Given the description of an element on the screen output the (x, y) to click on. 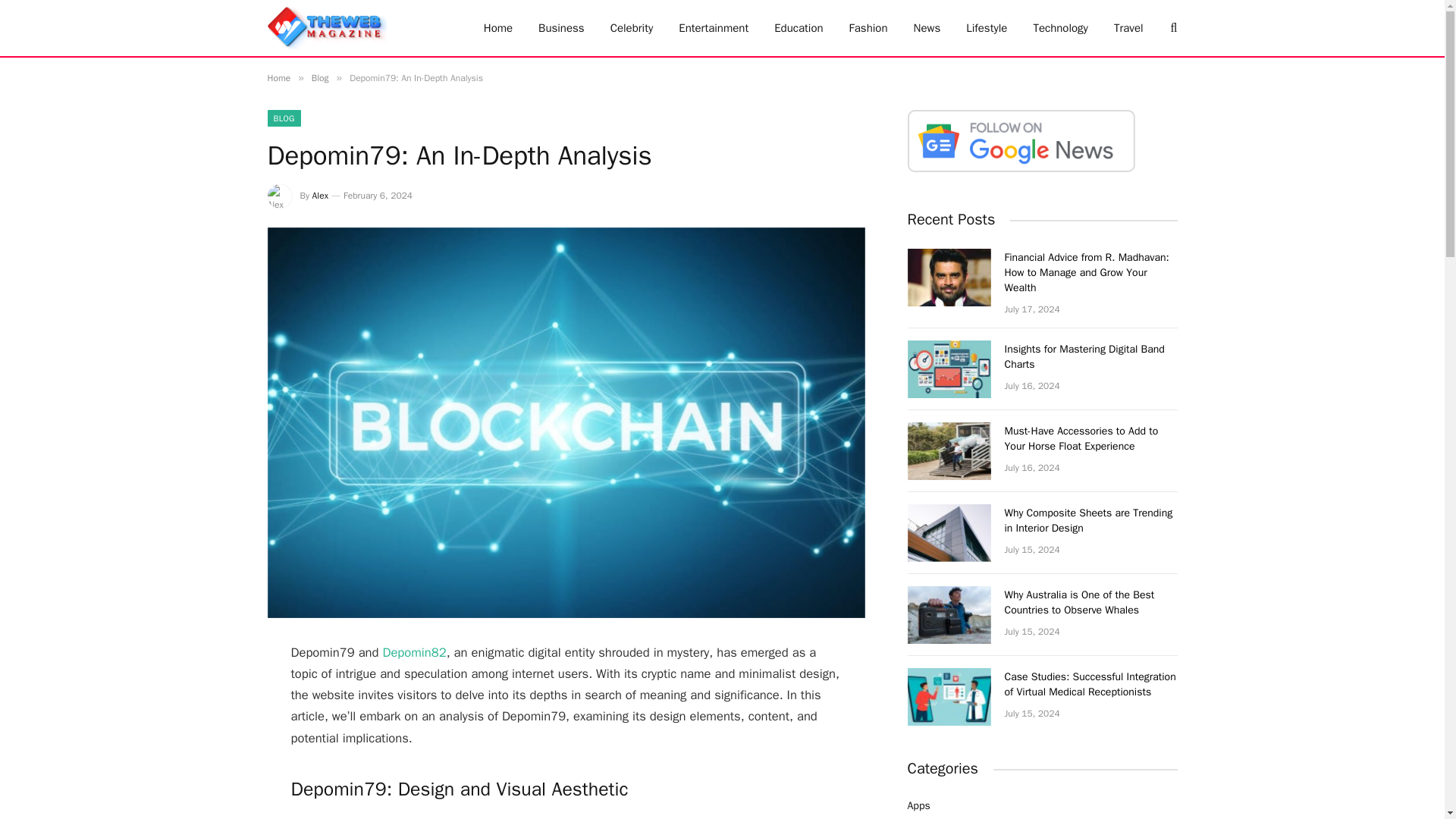
Business (560, 28)
Depomin82 (413, 652)
Technology (1060, 28)
Lifestyle (986, 28)
The Web Magazine (325, 28)
Alex (321, 195)
BLOG (282, 117)
Posts by Alex (321, 195)
Travel (1128, 28)
News (927, 28)
Home (497, 28)
Celebrity (631, 28)
Education (798, 28)
Blog (320, 78)
